Given the description of an element on the screen output the (x, y) to click on. 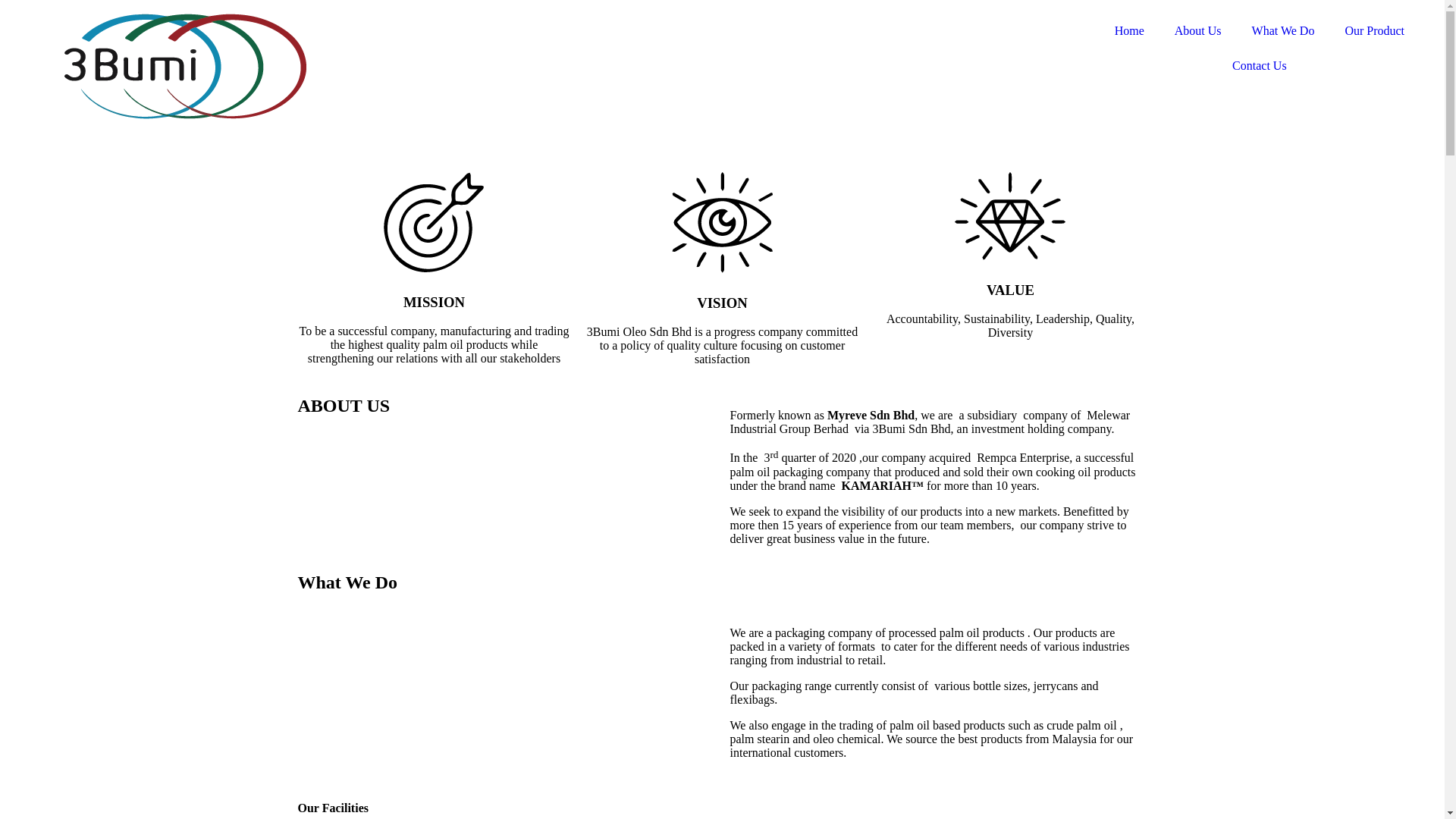
About Us Element type: text (1197, 30)
Our Product Element type: text (1374, 30)
Contact Us Element type: text (1259, 65)
Home Element type: text (1129, 30)
What We Do Element type: text (1283, 30)
